Given the description of an element on the screen output the (x, y) to click on. 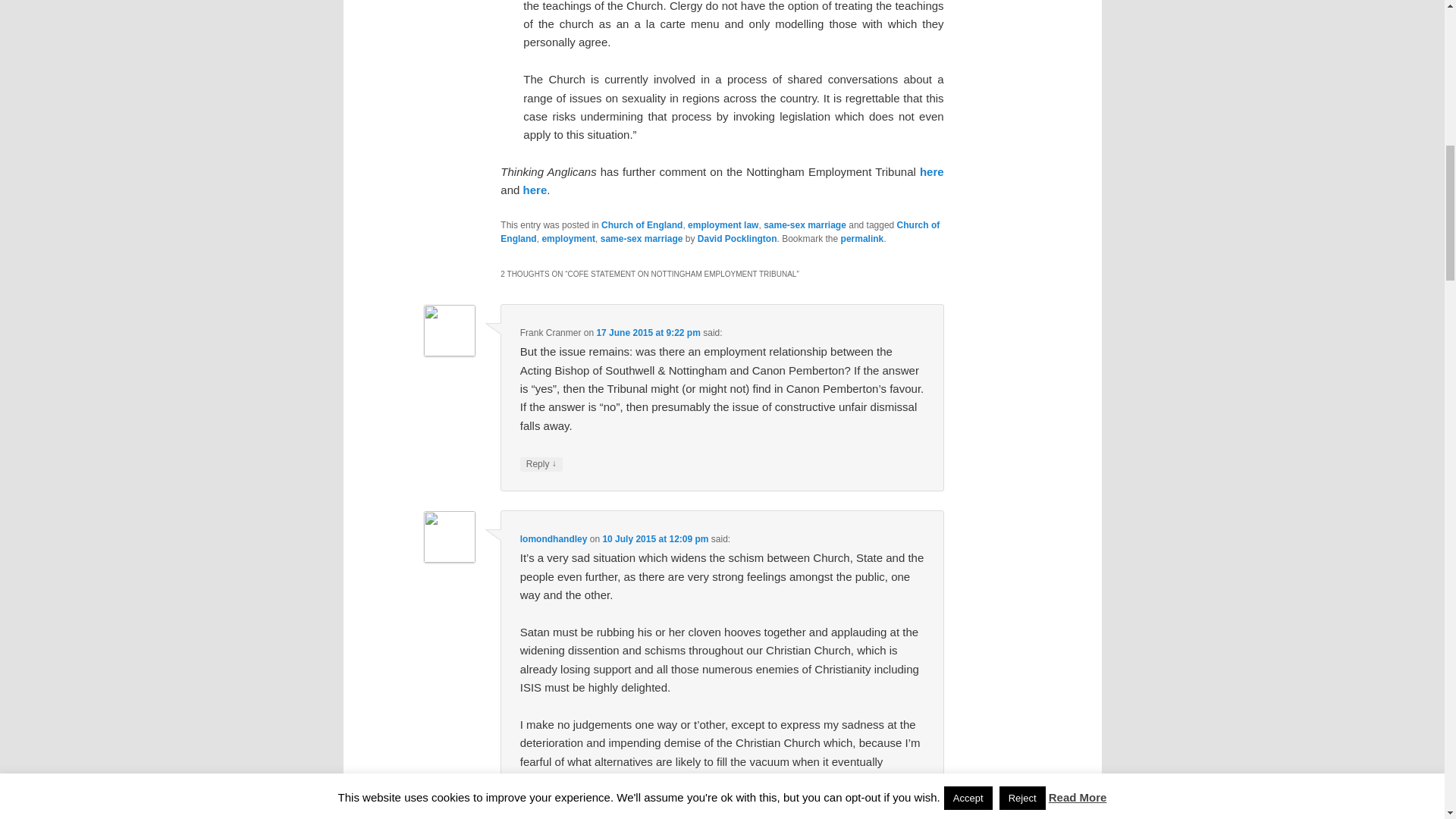
same-sex marriage (640, 238)
permalink (862, 238)
employment (568, 238)
17 June 2015 at 9:22 pm (647, 332)
here (931, 171)
Church of England (719, 232)
same-sex marriage (803, 225)
David Pocklington (737, 238)
here (534, 189)
Church of England (641, 225)
lomondhandley (553, 538)
employment law (722, 225)
10 July 2015 at 12:09 pm (654, 538)
